Given the description of an element on the screen output the (x, y) to click on. 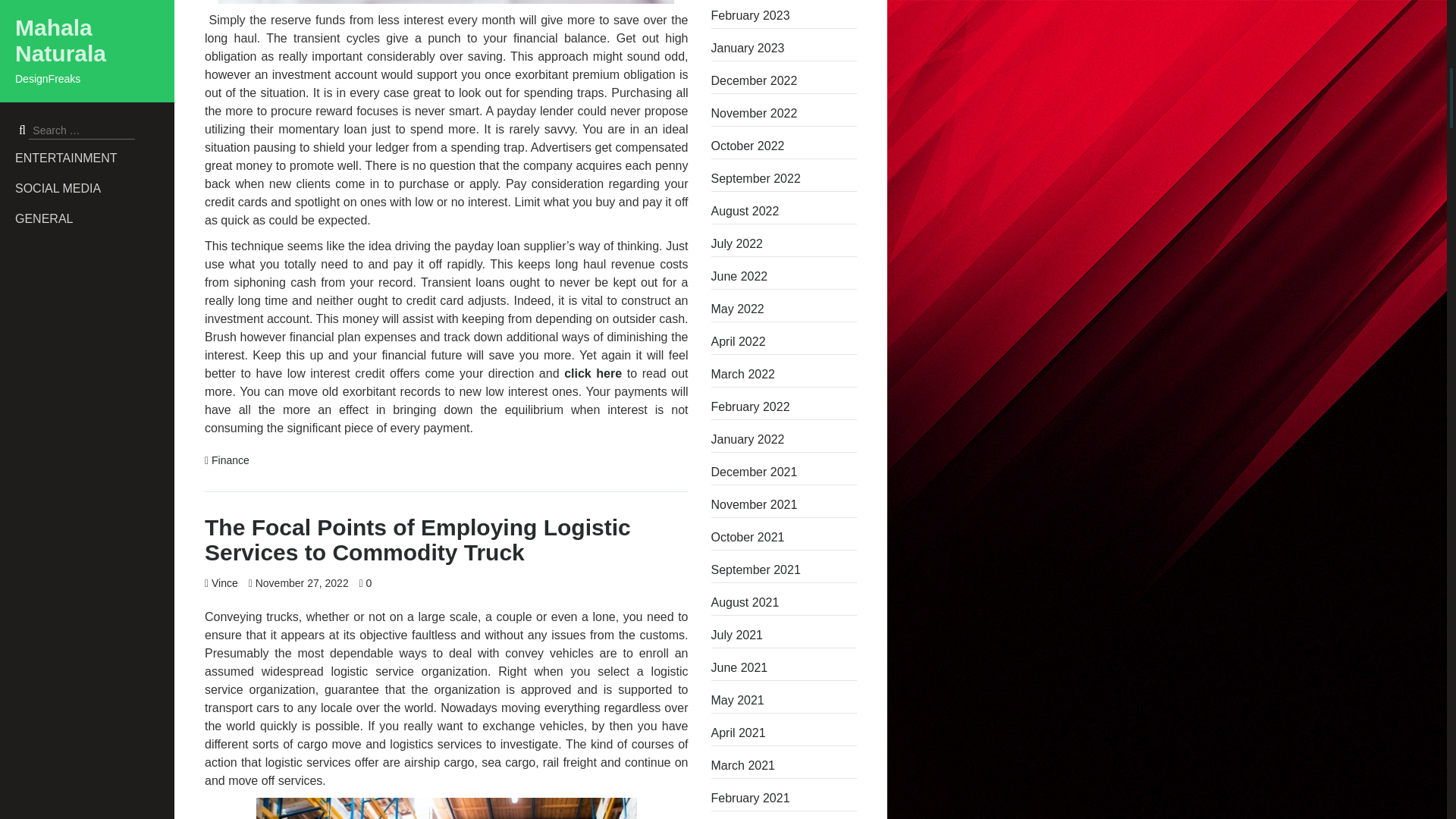
Vince (224, 582)
Posts by Vince (224, 582)
click here (592, 373)
Finance (229, 460)
